Given the description of an element on the screen output the (x, y) to click on. 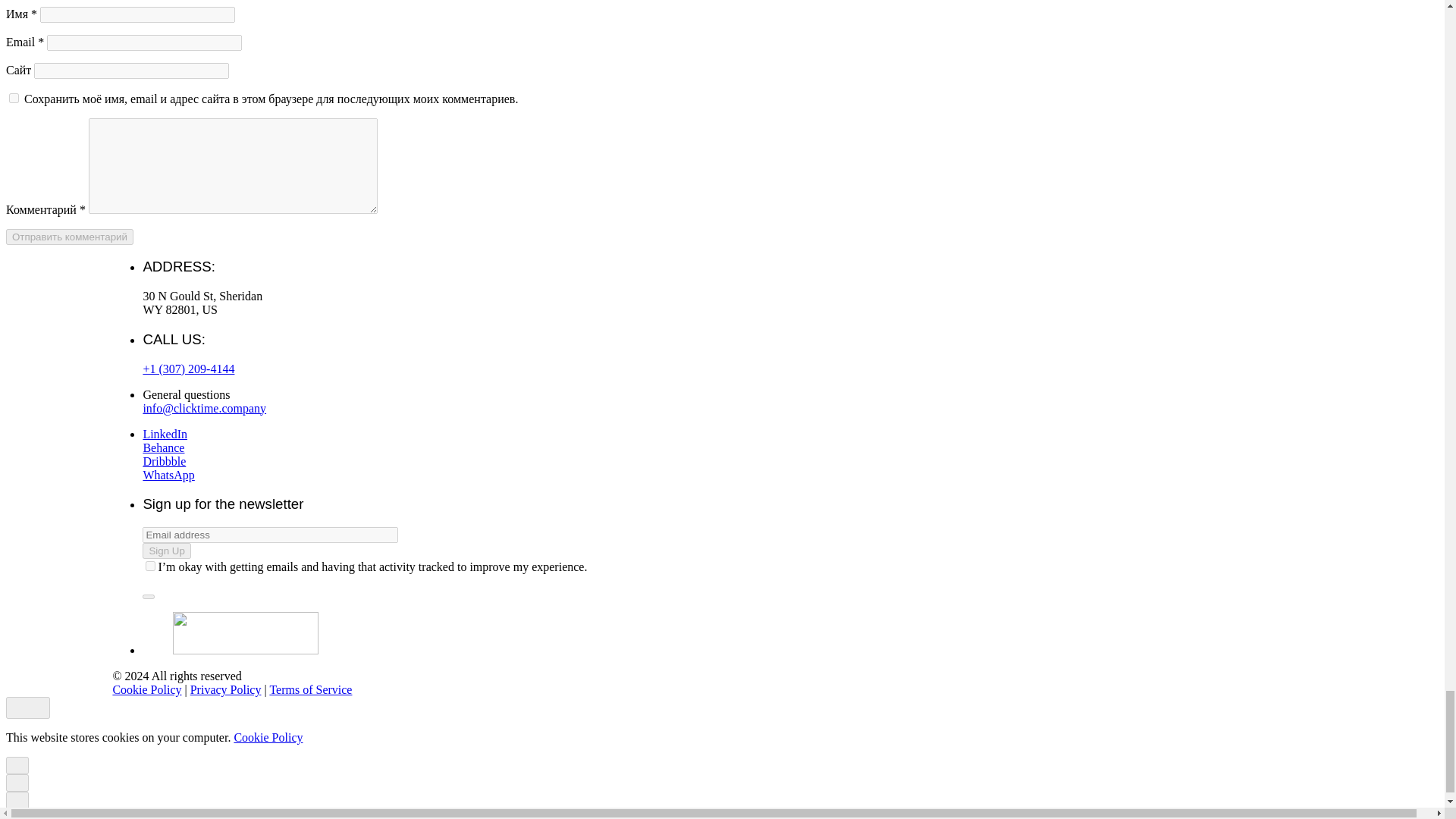
Sign Up (166, 550)
yes (13, 98)
